Given the description of an element on the screen output the (x, y) to click on. 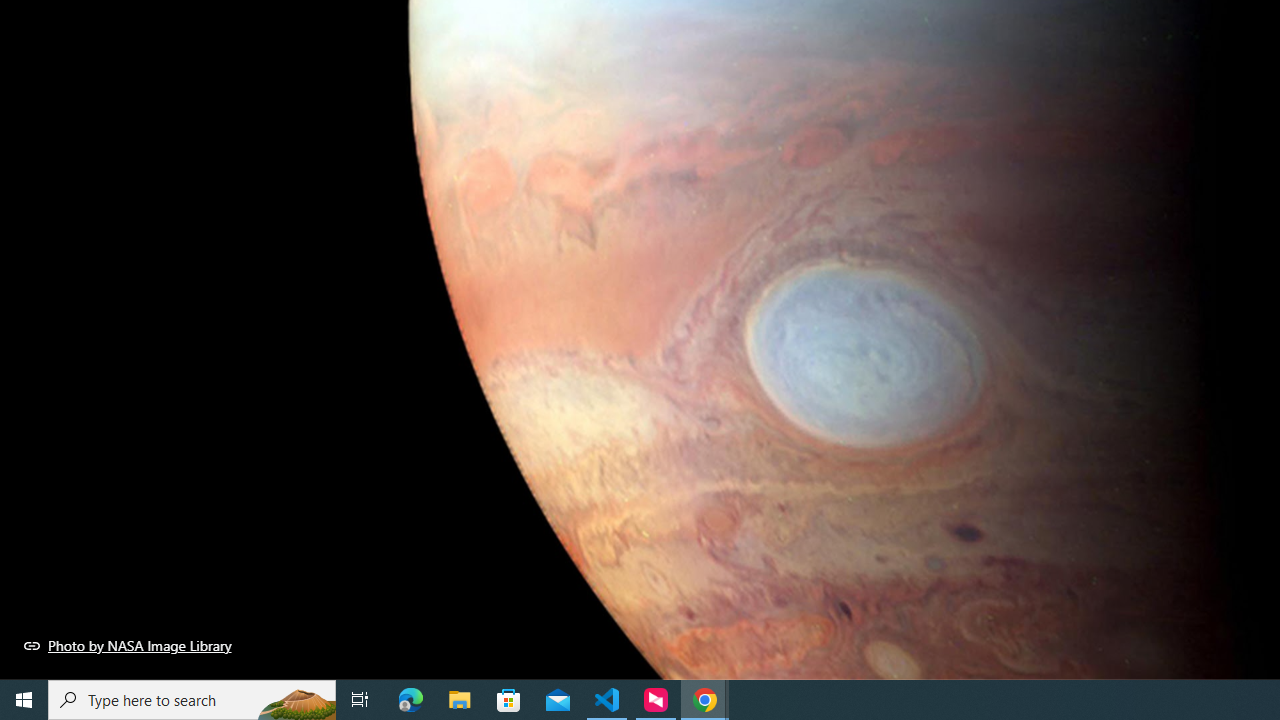
Photo by NASA Image Library (127, 645)
